Given the description of an element on the screen output the (x, y) to click on. 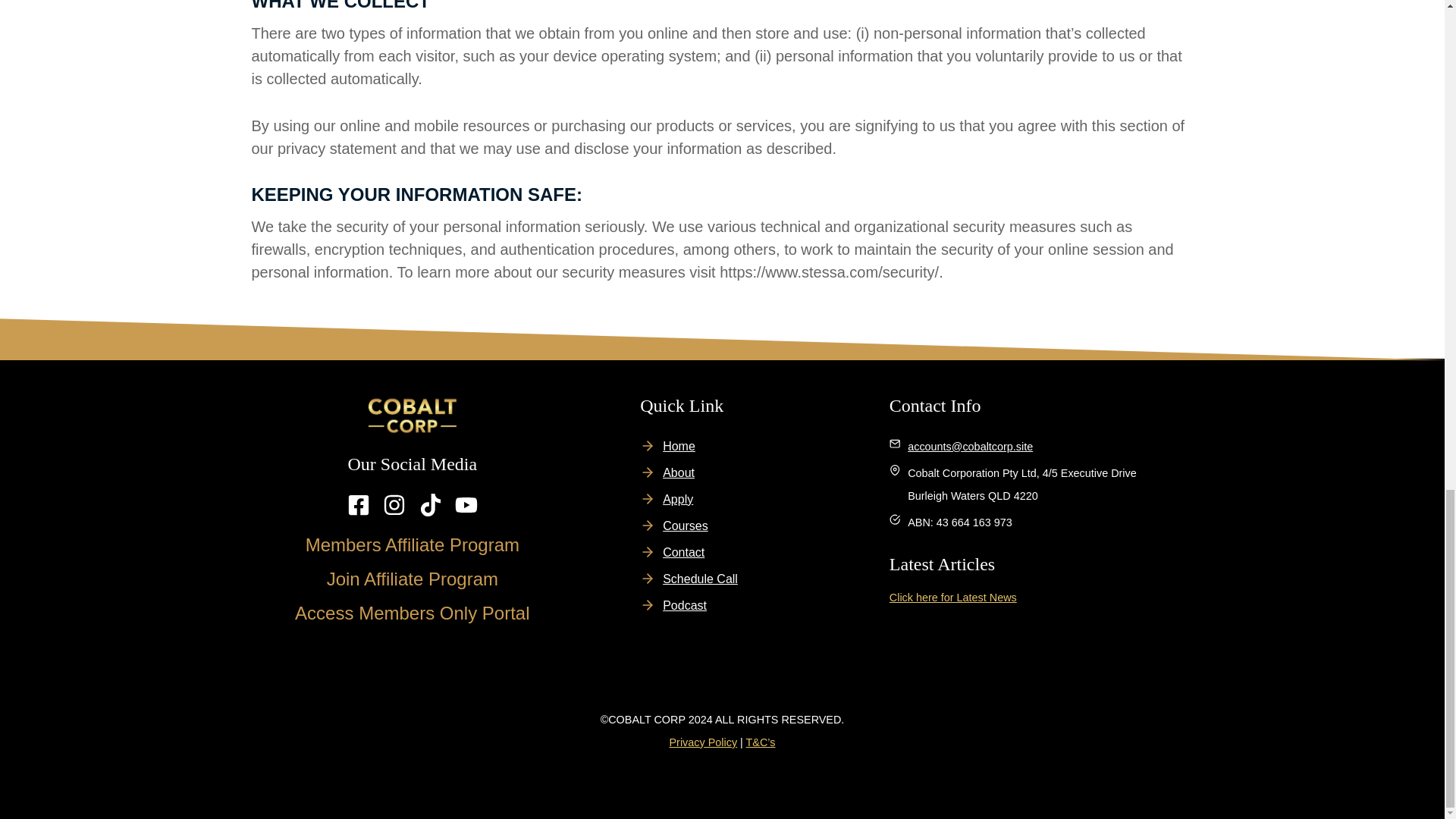
Apply (677, 499)
Home (678, 445)
Courses (684, 525)
Access Members Only Portal (412, 612)
Join Affiliate Program (411, 578)
Click here for Latest News (952, 597)
Podcast (684, 604)
Contact (683, 552)
Members Affiliate Program (412, 544)
Schedule Call (700, 578)
